Given the description of an element on the screen output the (x, y) to click on. 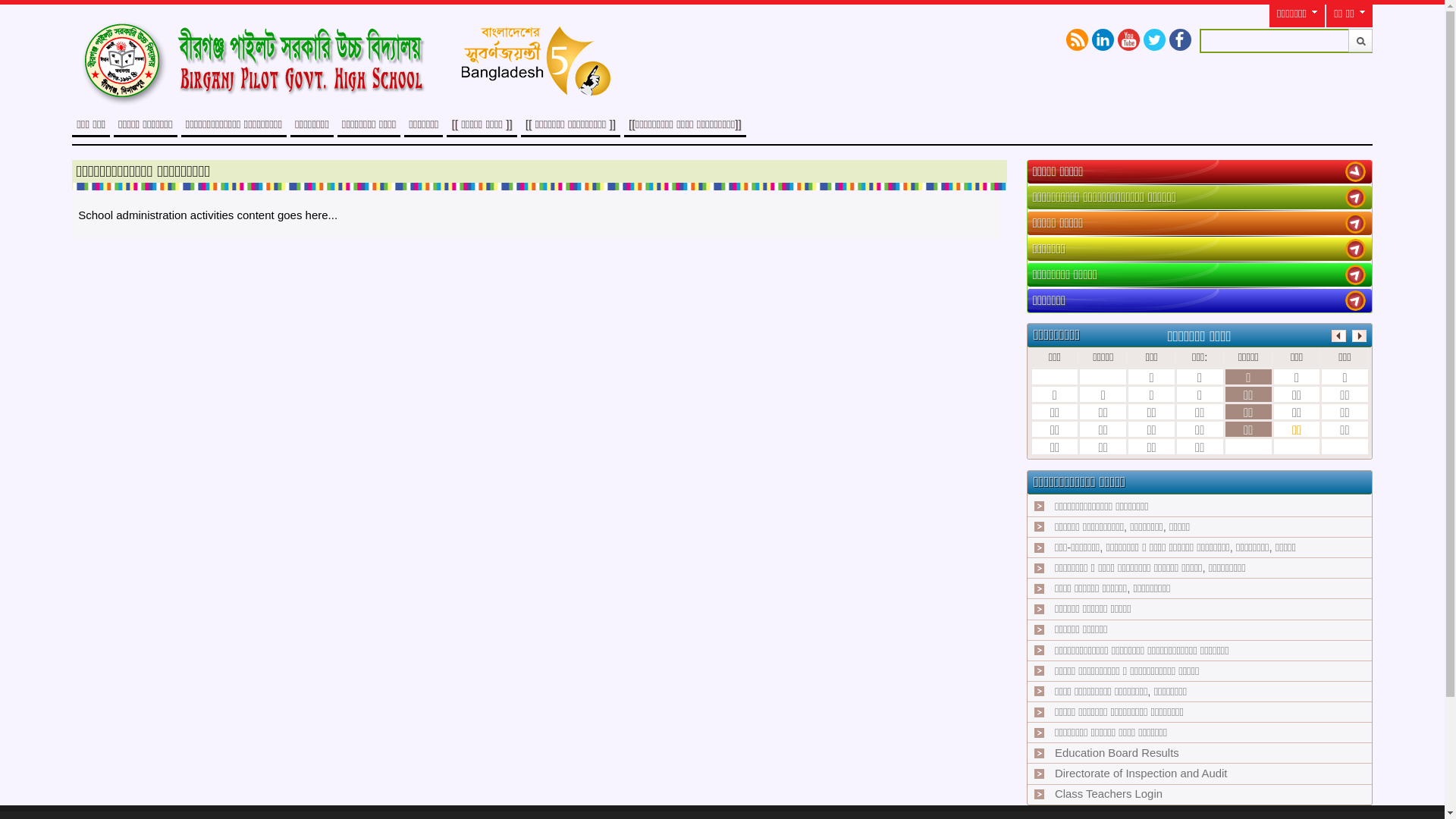
Class Teachers Login Element type: text (1108, 793)
  Element type: text (1355, 223)
Submit Element type: text (1360, 40)
  Element type: text (1355, 197)
  Element type: text (1355, 171)
  Element type: text (1355, 300)
  Element type: text (1355, 274)
Education Board Results Element type: text (1116, 752)
Directorate of Inspection and Audit Element type: text (1140, 773)
  Element type: text (1355, 248)
